Given the description of an element on the screen output the (x, y) to click on. 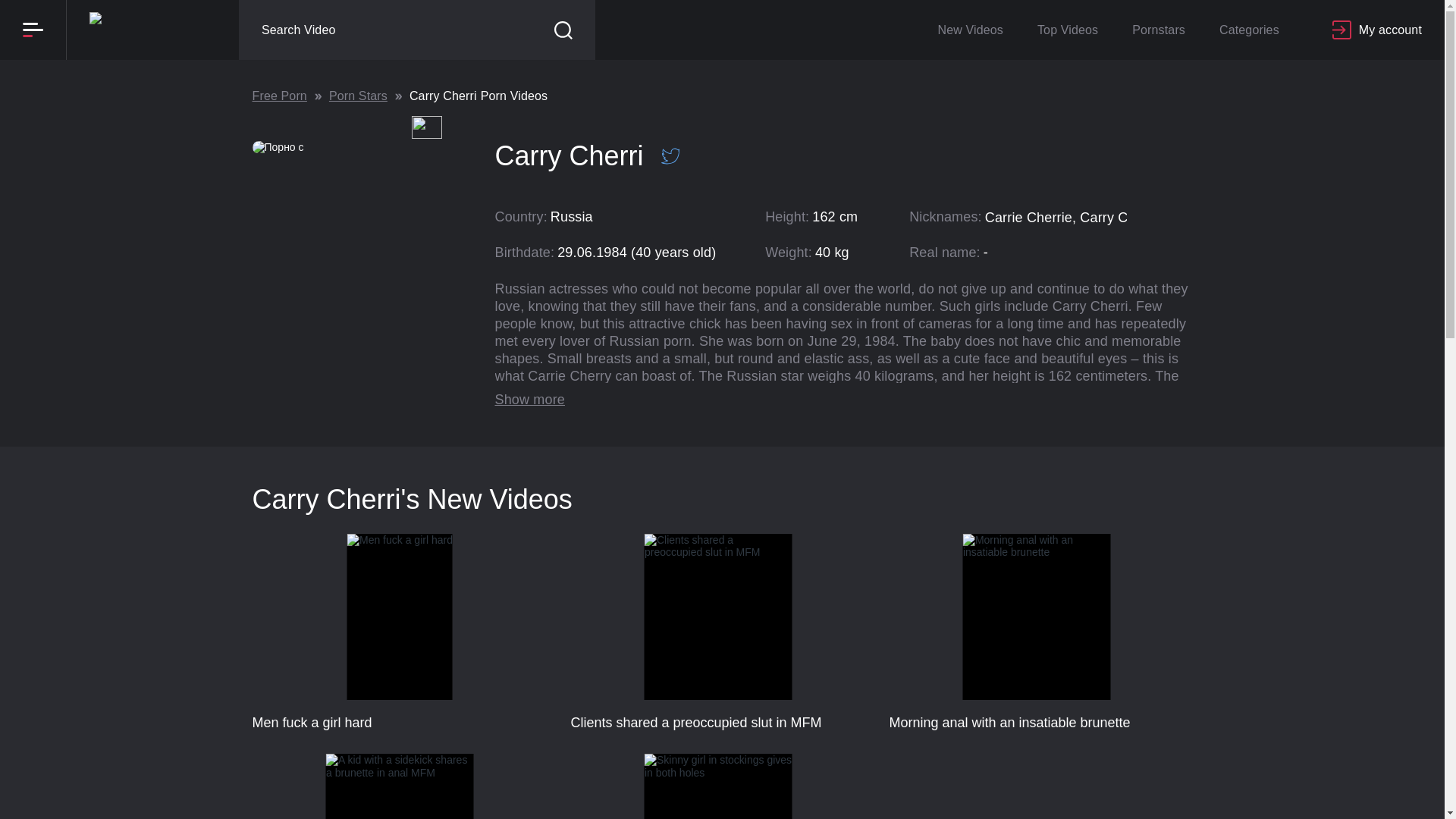
A kid with a sidekick shares a brunette in anal MFM (399, 786)
Clients shared a preoccupied slut in MFM (718, 632)
Men fuck a girl hard (399, 632)
Skinny girl in stockings gives in both holes (718, 786)
My account (1377, 29)
Men fuck a girl hard (399, 632)
Pornstars (1157, 29)
Categories (1249, 29)
New Videos (969, 29)
Morning anal with an insatiable brunette (1036, 632)
Clients shared a preoccupied slut in MFM (718, 632)
Top Videos (1067, 29)
A kid with a sidekick shares a brunette in anal MFM (721, 114)
Skinny girl in stockings gives in both holes (399, 786)
